Given the description of an element on the screen output the (x, y) to click on. 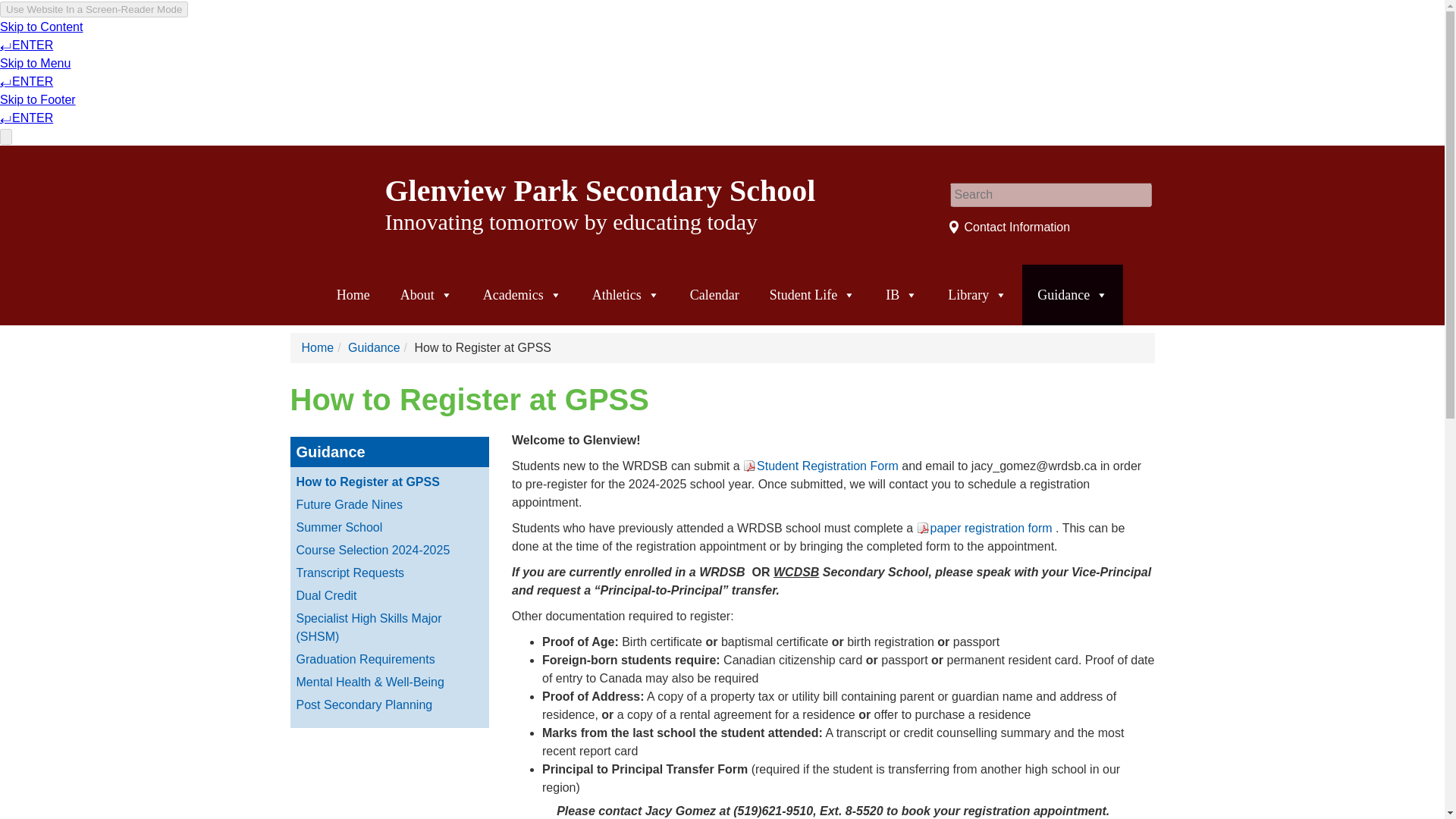
Calendar (714, 294)
Home (353, 294)
Contact Information (1009, 226)
Athletics (625, 294)
Guidance (373, 347)
Student Life (812, 294)
Academics (521, 294)
About (426, 294)
